Given the description of an element on the screen output the (x, y) to click on. 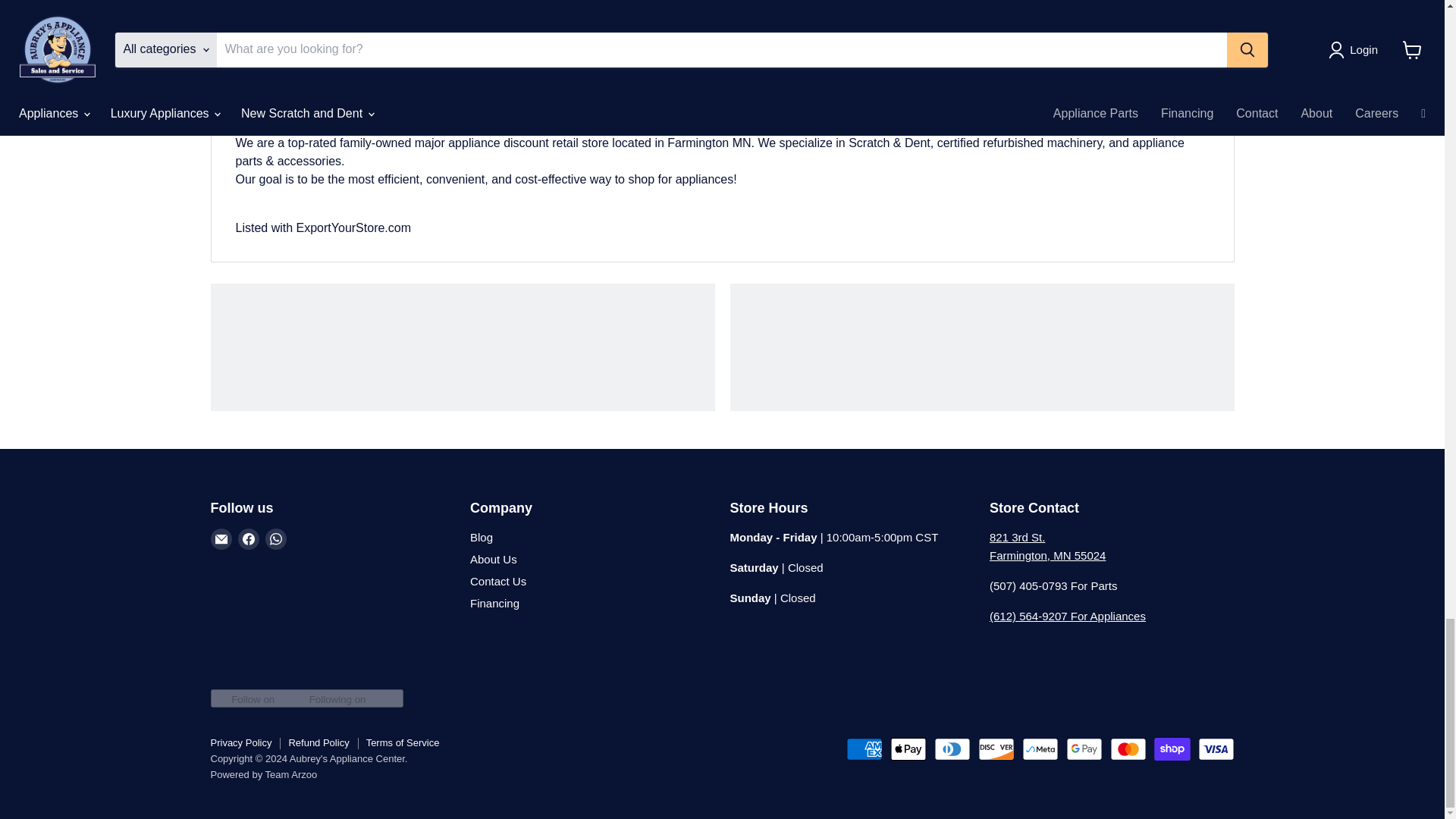
Diners Club (952, 748)
Call Aubrey's Now (1067, 615)
WhatsApp (275, 538)
Email (221, 538)
Apple Pay (907, 748)
Facebook (248, 538)
Get Directions (1047, 545)
American Express (863, 748)
